Given the description of an element on the screen output the (x, y) to click on. 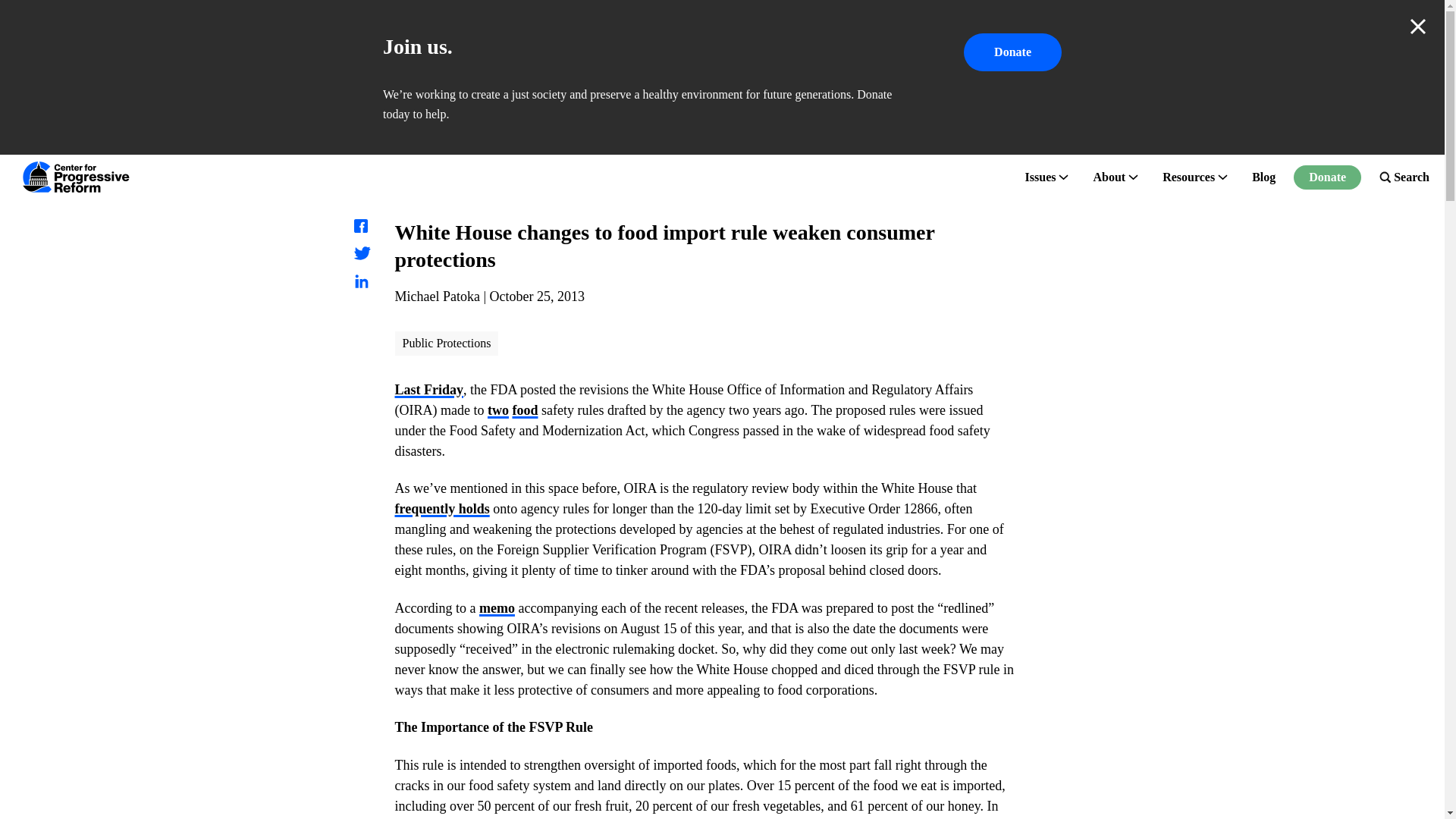
Close (1417, 26)
About (1109, 177)
Resources (1187, 177)
Issues (1041, 177)
Donate (1012, 52)
Blog (1263, 177)
Search (1403, 177)
Donate (1327, 177)
